Given the description of an element on the screen output the (x, y) to click on. 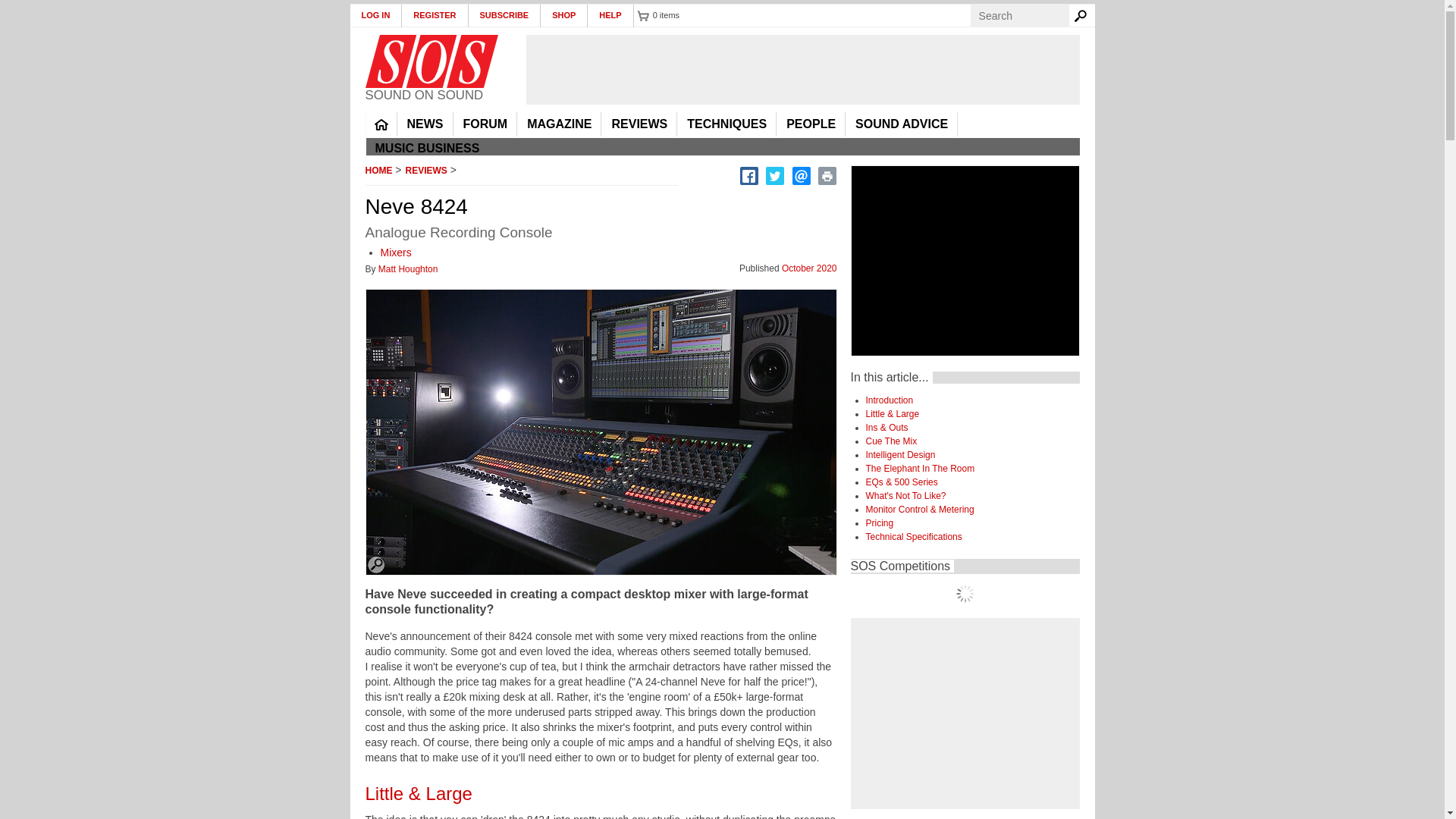
FORUM (484, 124)
SHOP (564, 15)
HOME (380, 124)
Search (1082, 15)
HELP (610, 15)
NEWS (424, 124)
SUBSCRIBE (504, 15)
LOG IN (376, 15)
Search (1082, 15)
REGISTER (434, 15)
